Given the description of an element on the screen output the (x, y) to click on. 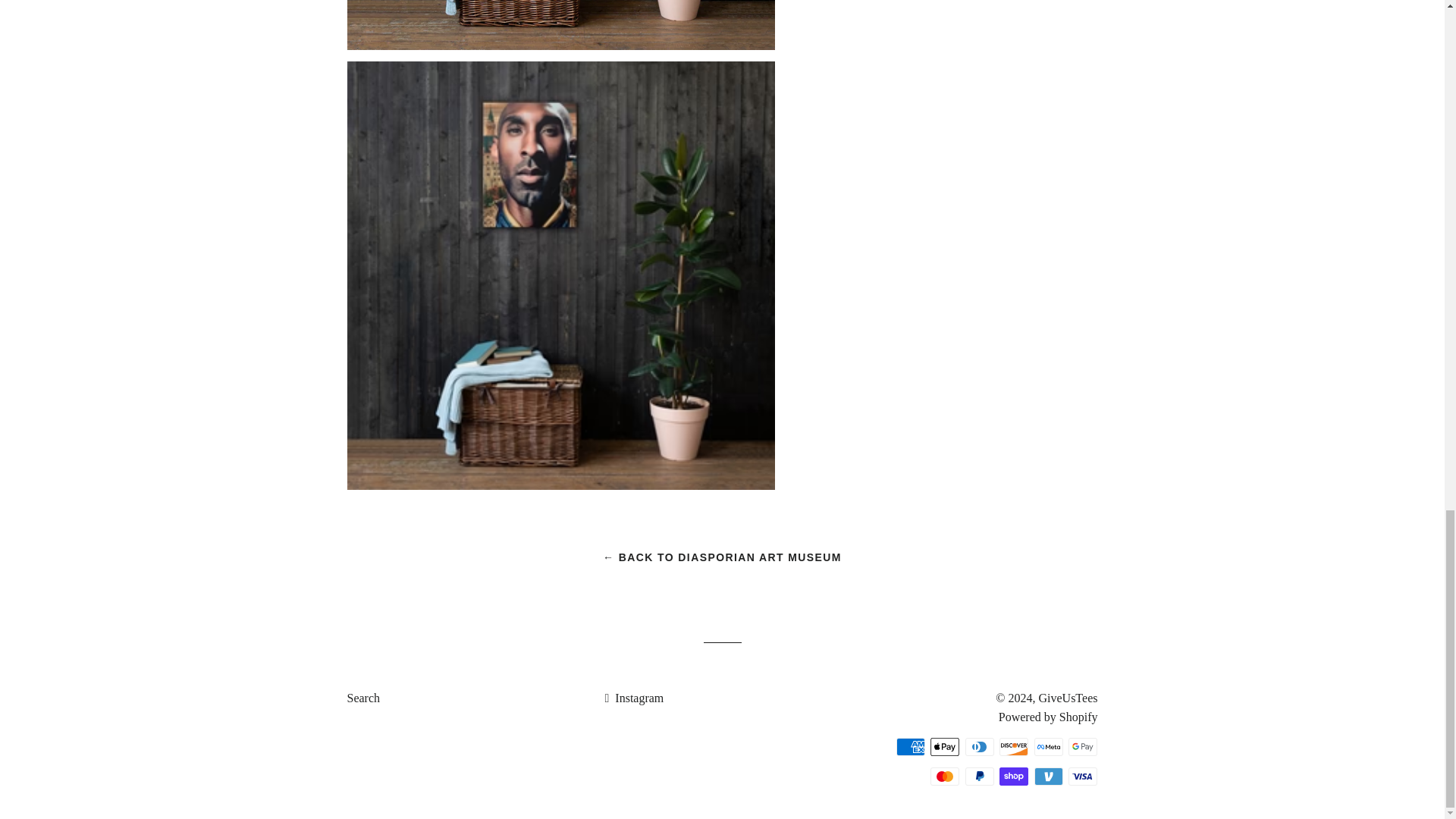
PayPal (979, 776)
Powered by Shopify (1047, 716)
Diners Club (979, 746)
GiveUsTees  on Instagram (633, 697)
Shop Pay (1012, 776)
Meta Pay (1047, 746)
Visa (1082, 776)
American Express (910, 746)
Discover (1012, 746)
Apple Pay (944, 746)
